Given the description of an element on the screen output the (x, y) to click on. 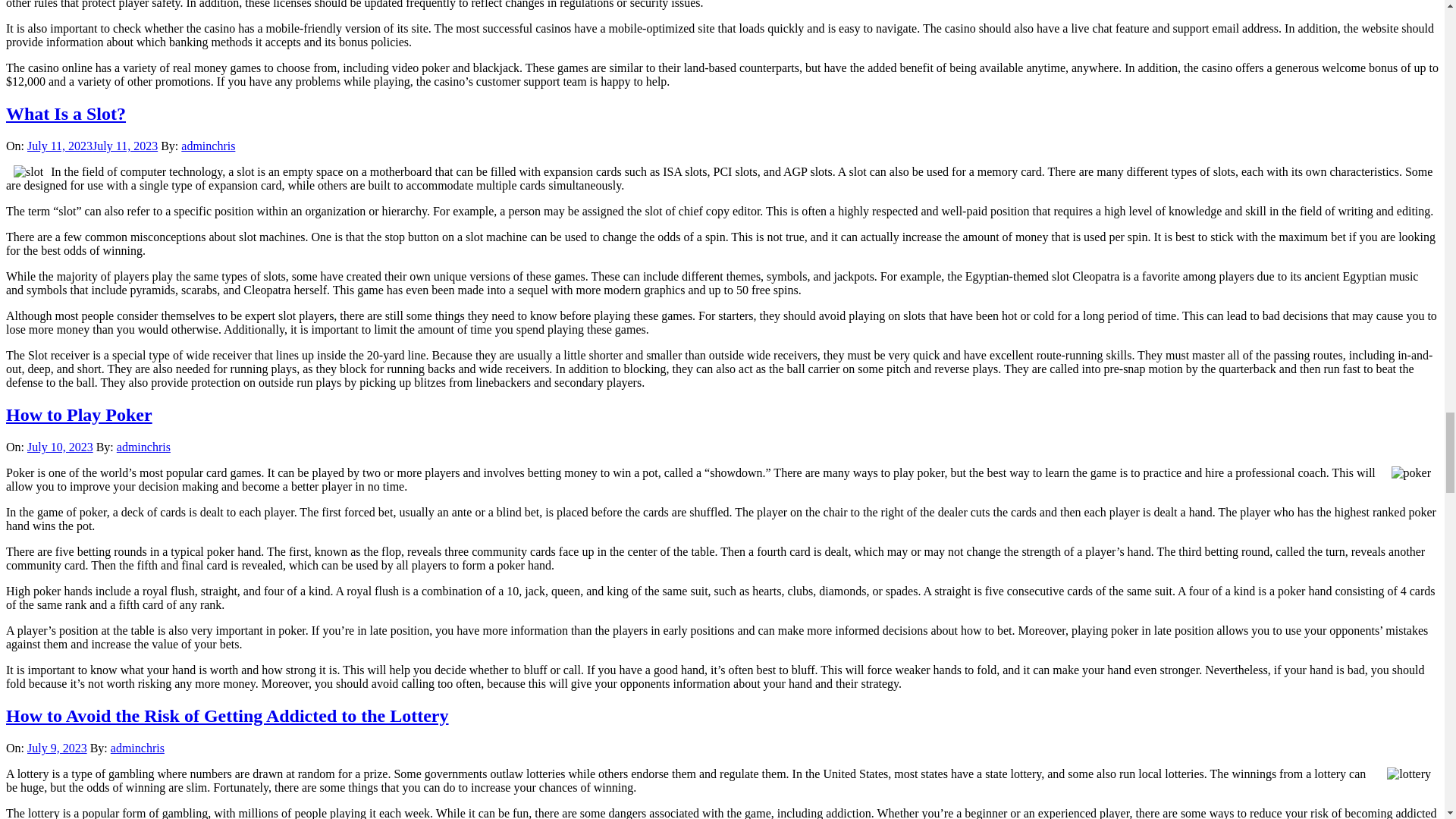
What Is a Slot? (65, 113)
